Given the description of an element on the screen output the (x, y) to click on. 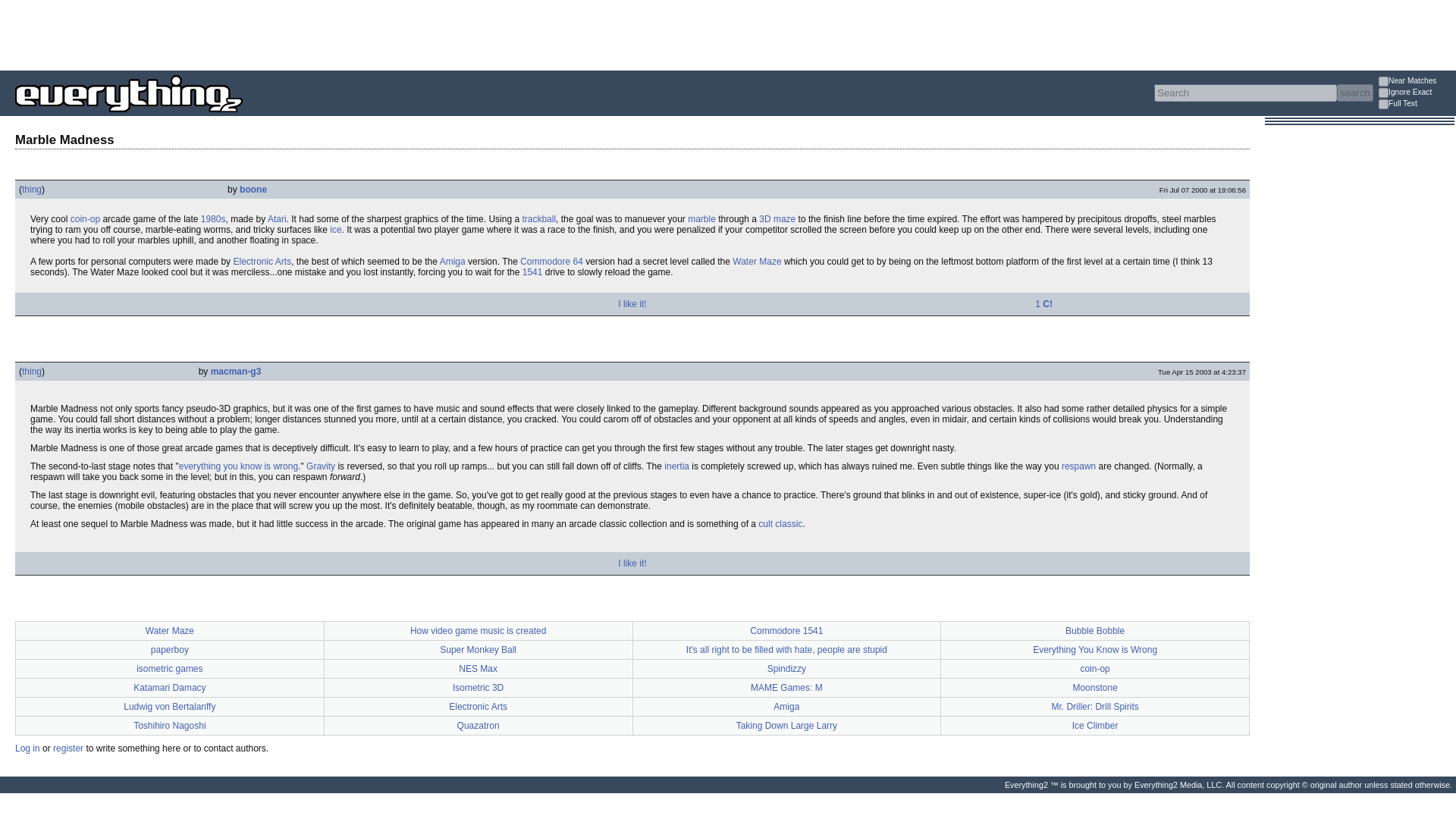
Amiga (452, 261)
3D (764, 218)
trackball (538, 218)
trackball (538, 218)
cult classic (780, 523)
Atari (276, 218)
Twitter (26, 304)
1541 (532, 271)
marble (701, 218)
1 (1383, 92)
